Given the description of an element on the screen output the (x, y) to click on. 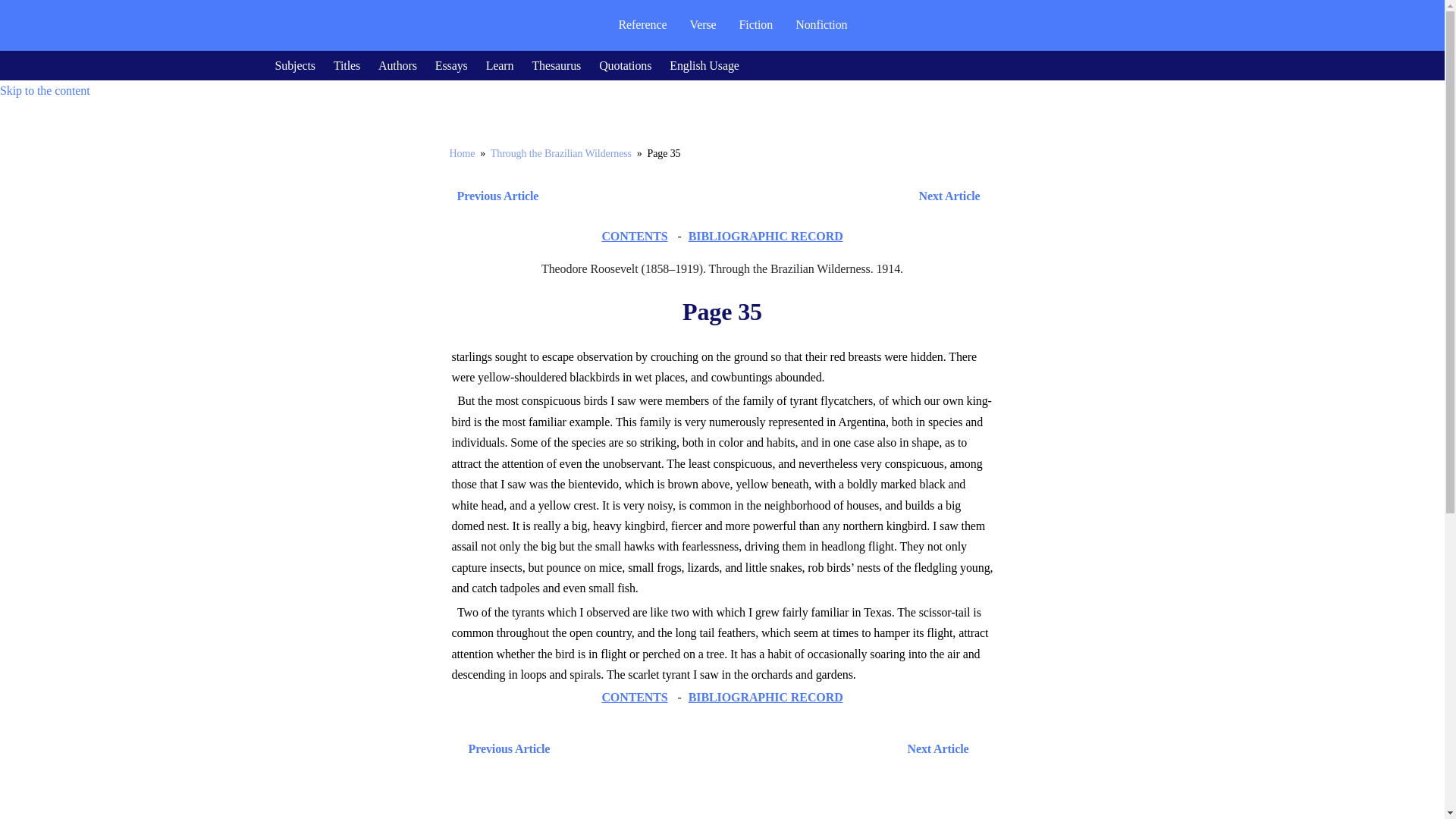
Authors (397, 65)
Verse (702, 24)
CONTENTS (633, 236)
English Usage (704, 65)
Titles (346, 65)
Skip to the content (45, 90)
Nonfiction (821, 24)
Fiction (756, 24)
BIBLIOGRAPHIC RECORD (765, 236)
Home (461, 153)
Quotations (624, 65)
Previous Article (493, 195)
Thesaurus (555, 65)
BIBLIOGRAPHIC RECORD (765, 697)
Through the Brazilian Wilderness (560, 153)
